Given the description of an element on the screen output the (x, y) to click on. 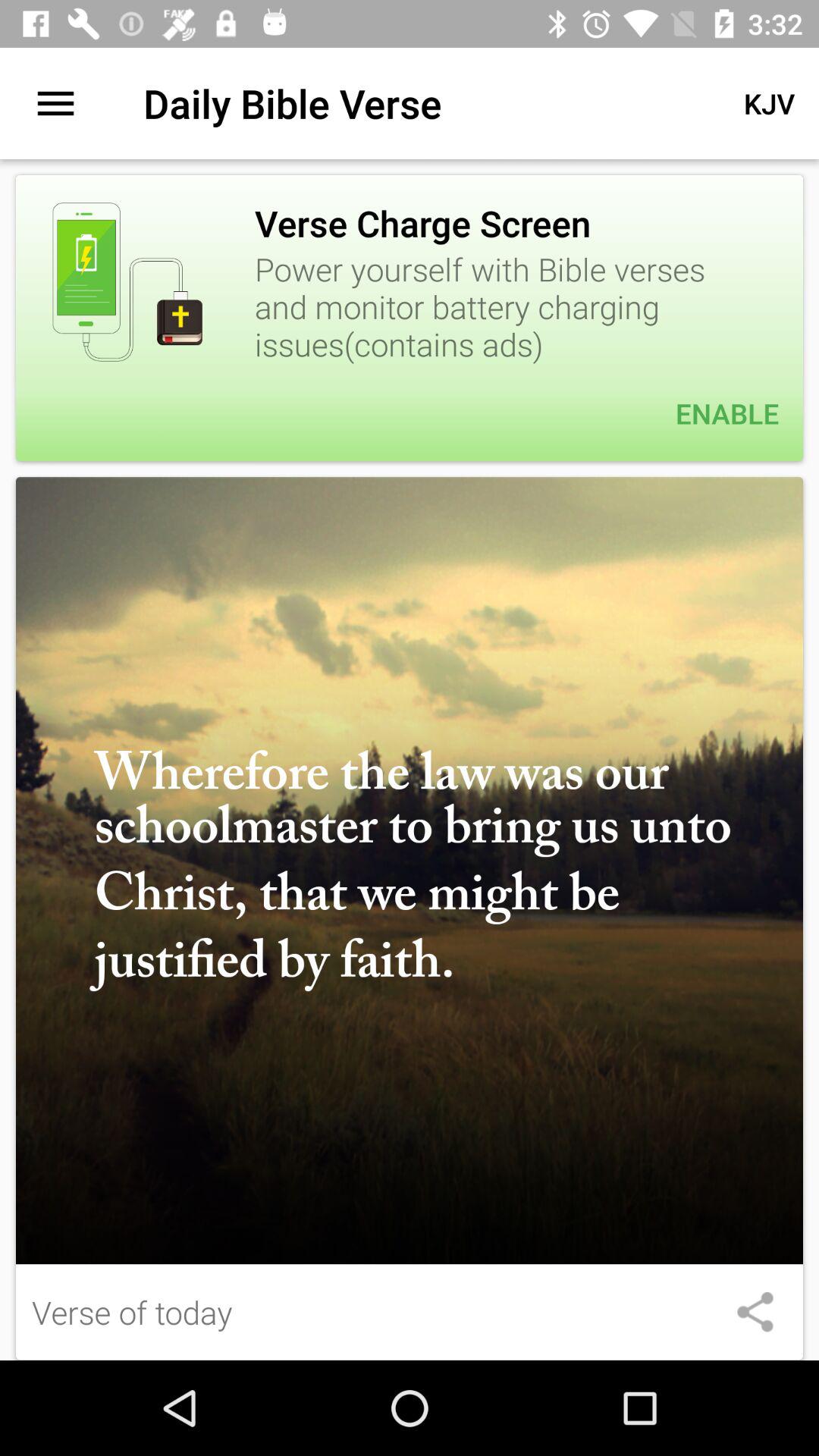
turn off item below the power yourself with (409, 413)
